Given the description of an element on the screen output the (x, y) to click on. 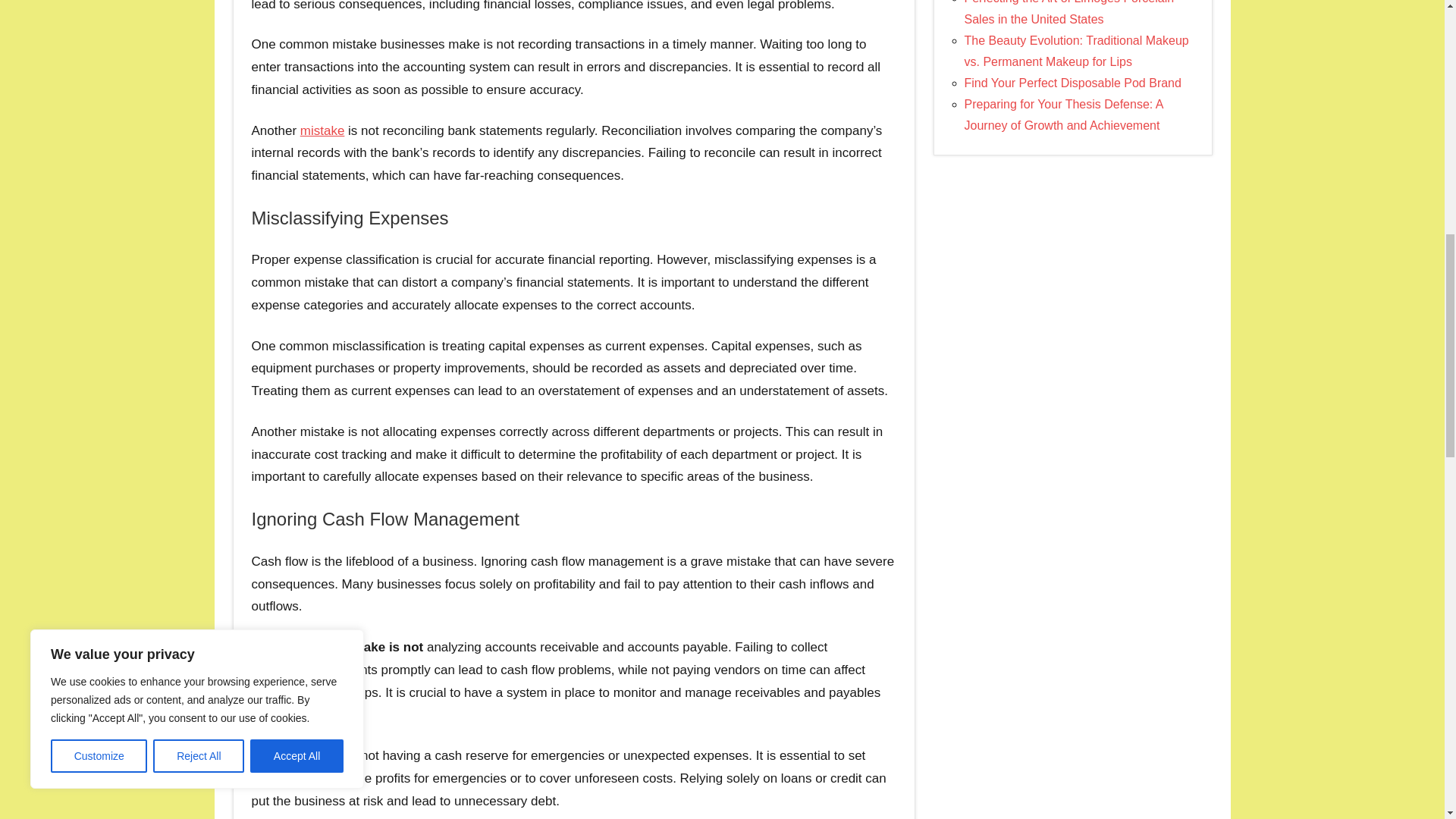
mistake (322, 130)
